Given the description of an element on the screen output the (x, y) to click on. 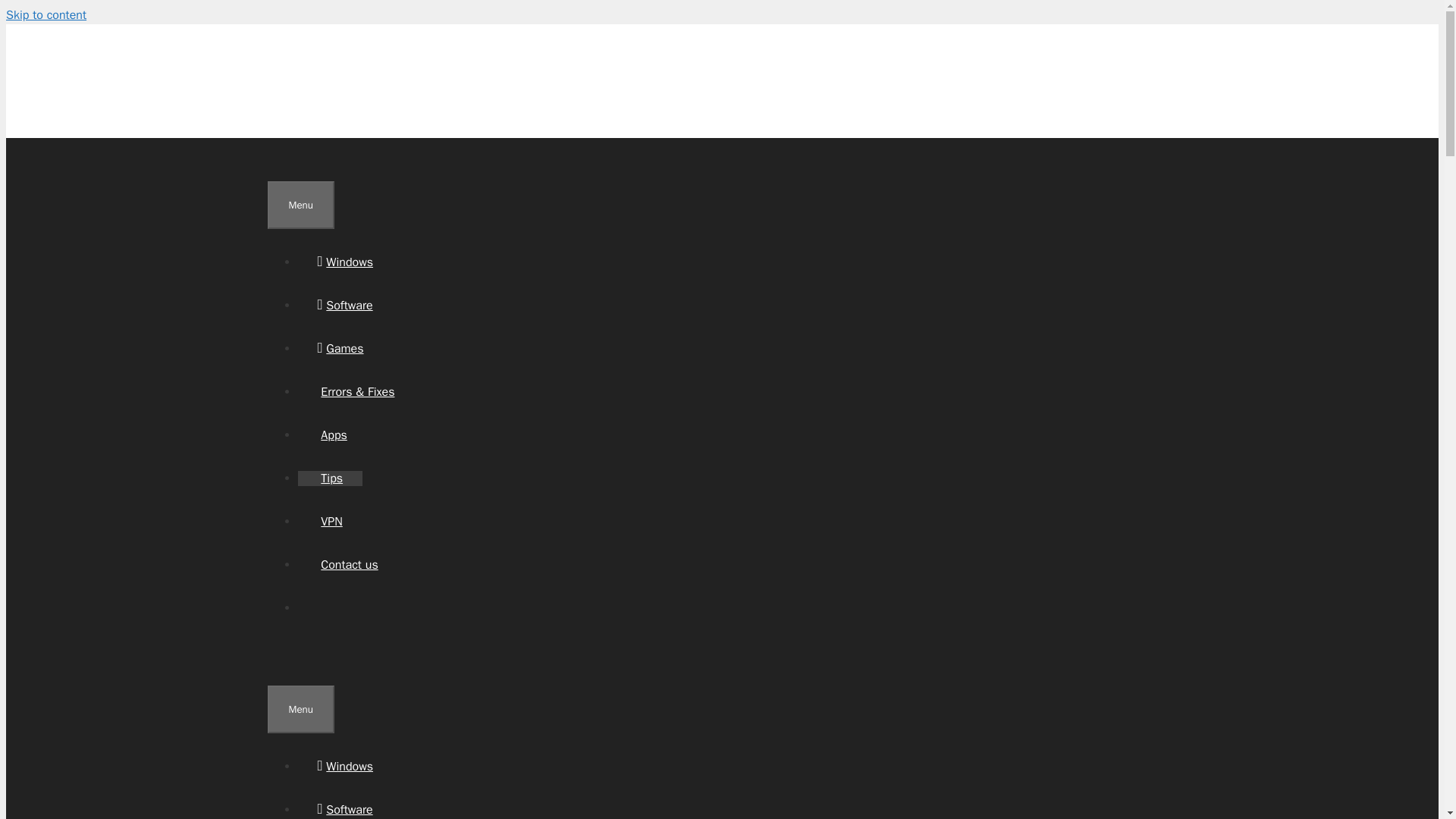
Menu (299, 204)
Windows (344, 766)
iTechGyan (353, 104)
Software (344, 809)
Skip to content (45, 14)
iTechGyan (353, 71)
Games (339, 348)
Software (344, 305)
Contact us (347, 564)
Tips (329, 478)
